Given the description of an element on the screen output the (x, y) to click on. 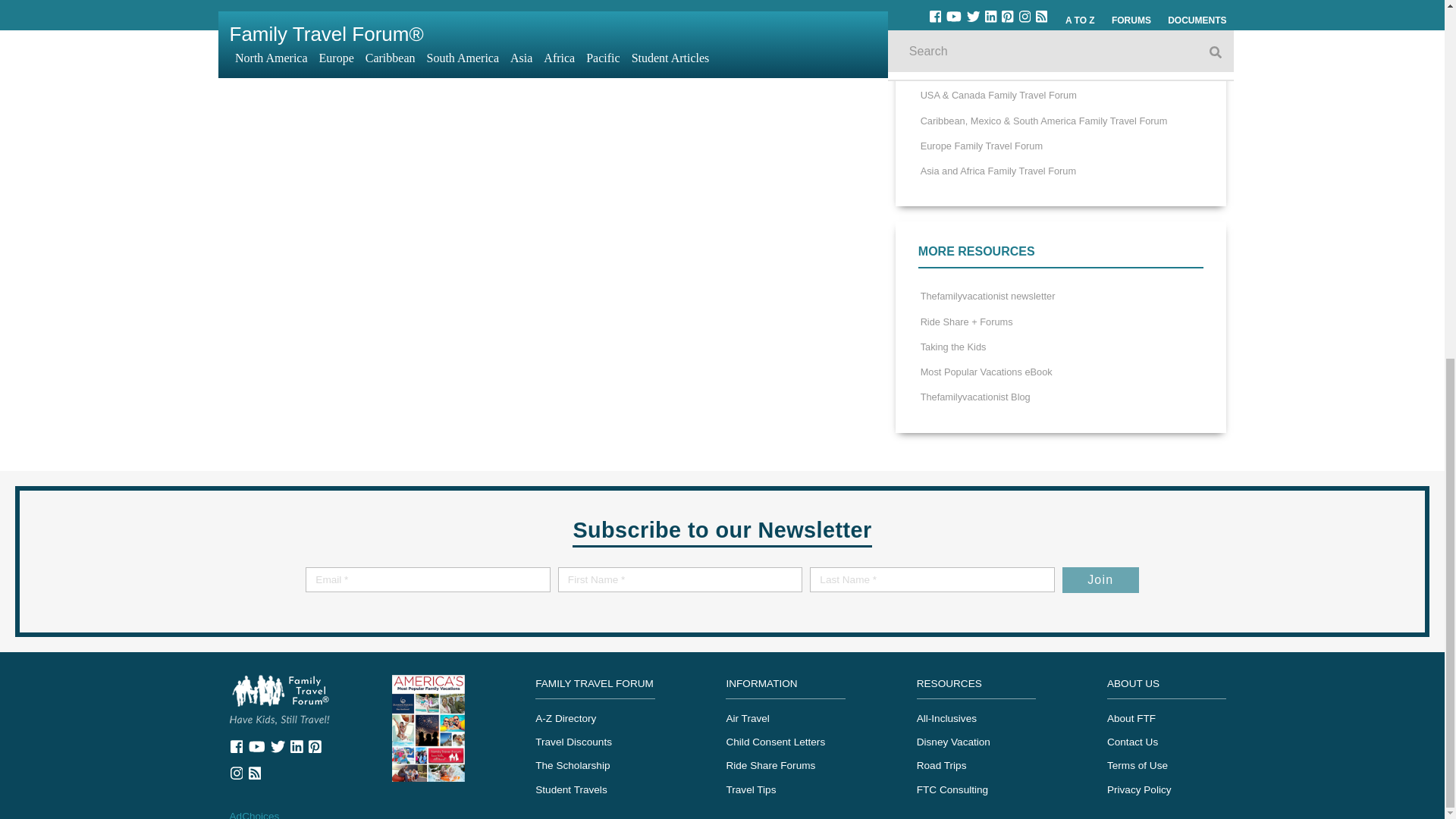
America's Most Popular Family Vacations (427, 727)
My Family Travels (279, 698)
Join (1100, 579)
